Given the description of an element on the screen output the (x, y) to click on. 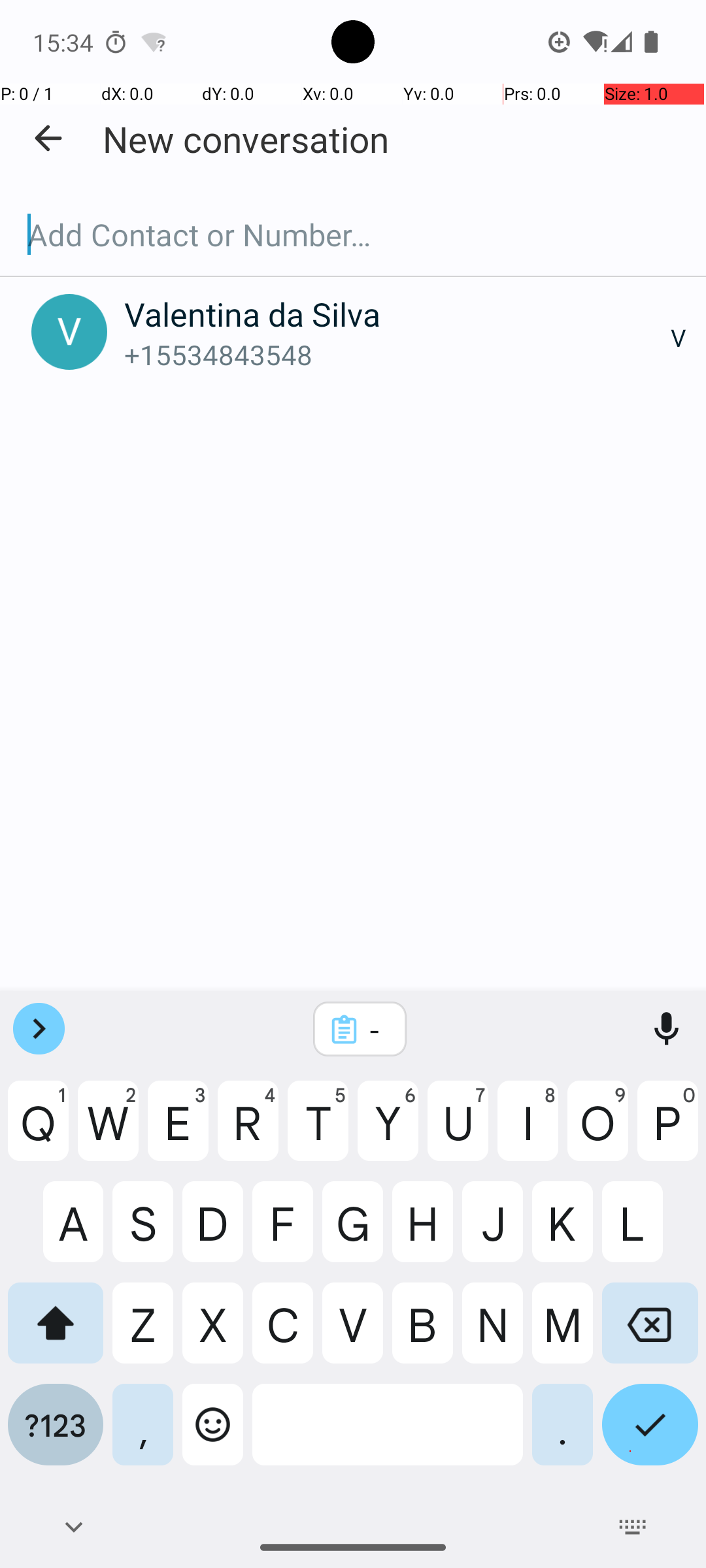
Valentina da Silva Element type: android.widget.TextView (397, 313)
+15534843548 Element type: android.widget.TextView (397, 354)
